Given the description of an element on the screen output the (x, y) to click on. 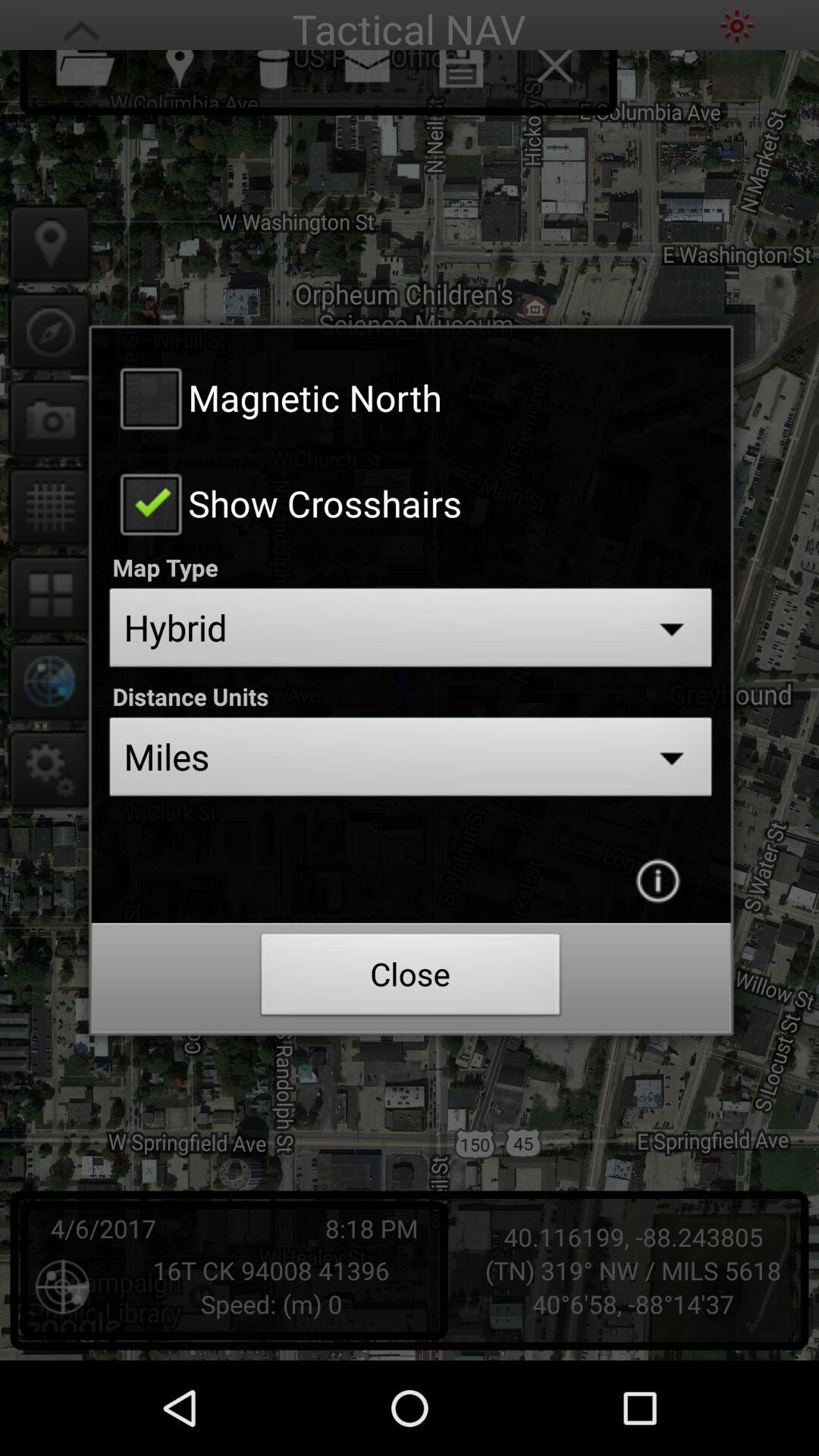
go to information (657, 880)
